Given the description of an element on the screen output the (x, y) to click on. 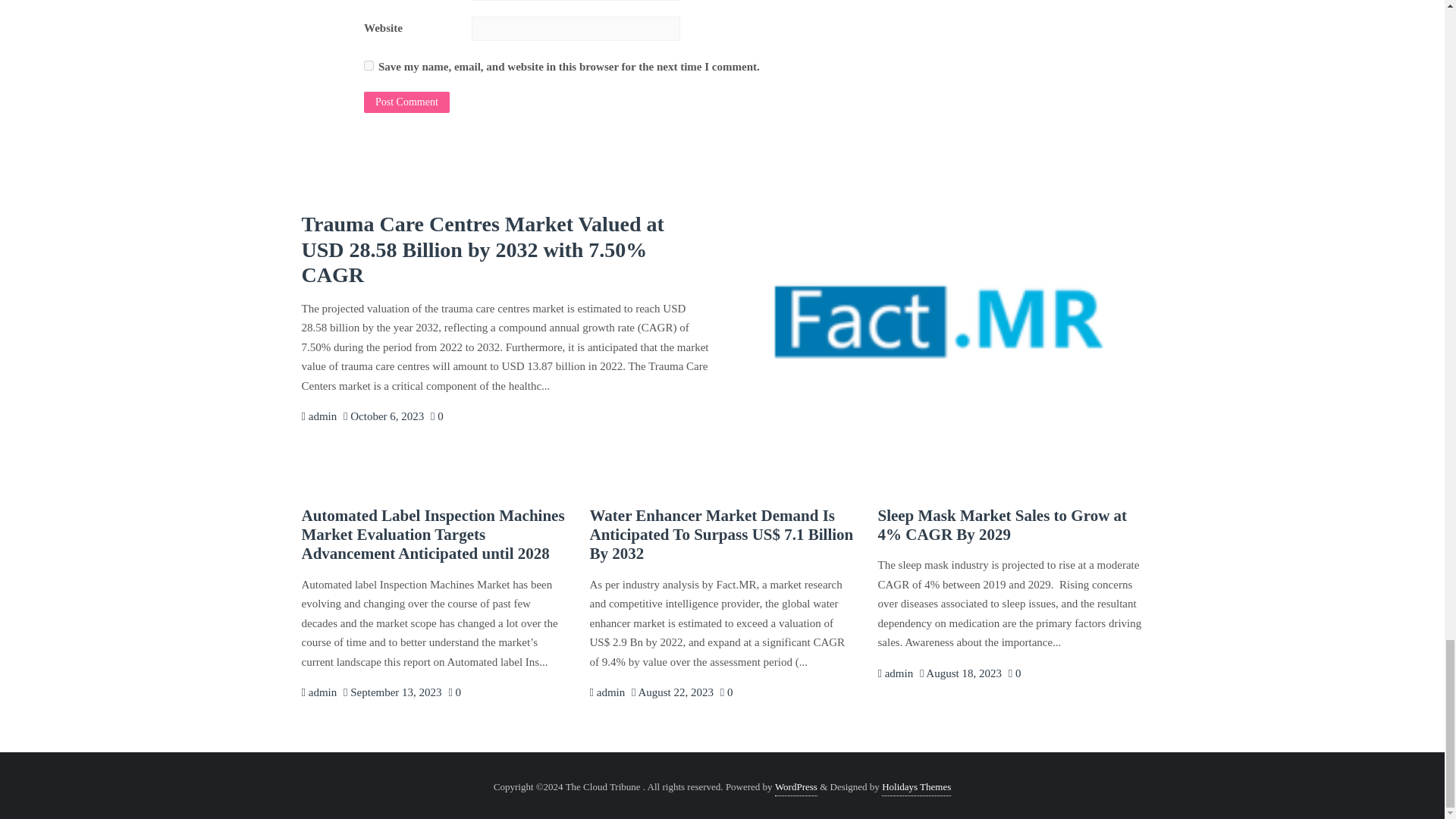
Post Comment (406, 102)
October 6, 2023 (383, 416)
admin (319, 416)
admin (894, 673)
admin (319, 416)
0 (437, 416)
admin (606, 692)
Post Comment (406, 102)
yes (369, 65)
admin (319, 692)
